Given the description of an element on the screen output the (x, y) to click on. 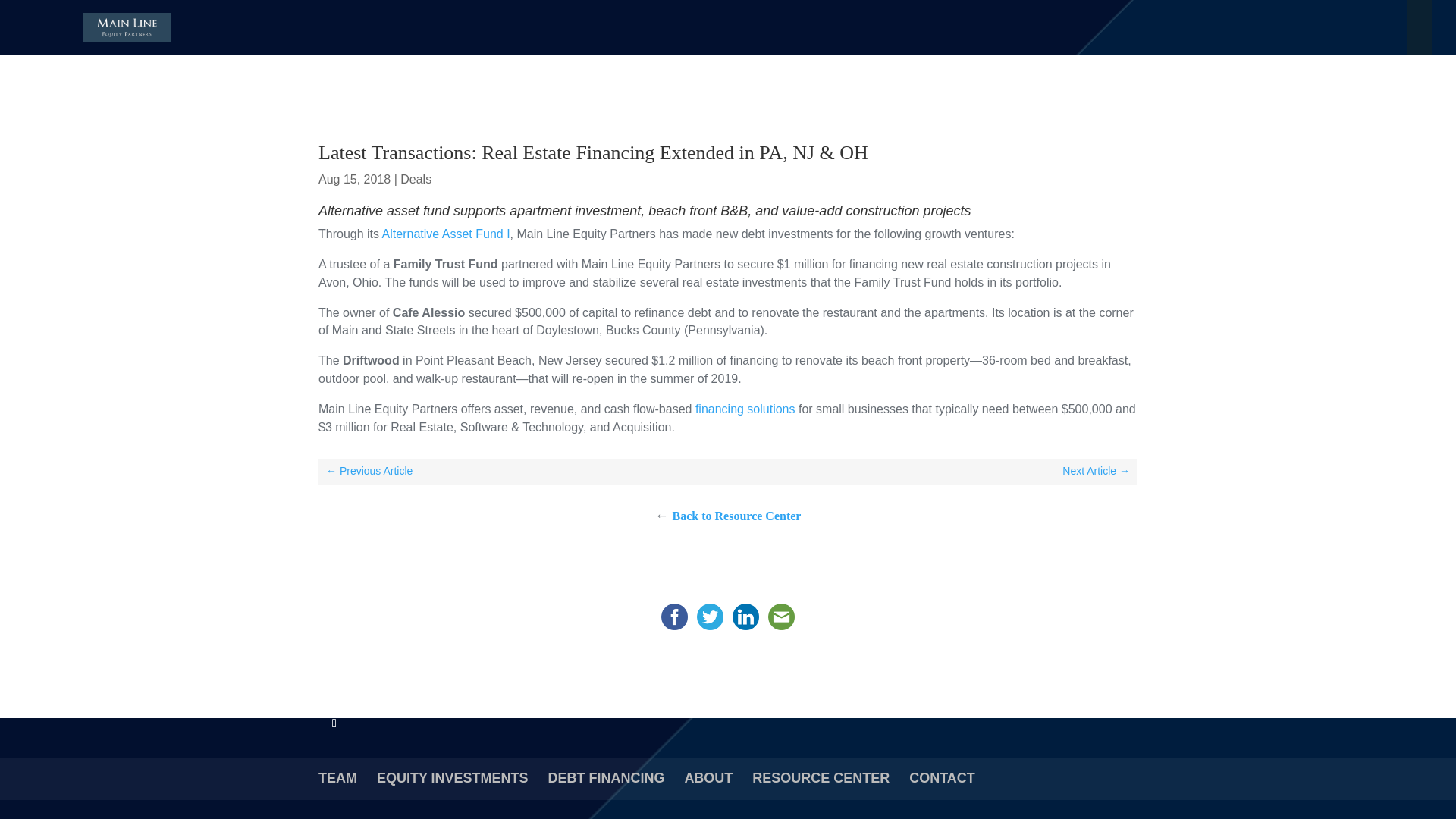
Deals (415, 178)
twitter (710, 616)
linkedin (745, 616)
Privacy Statement (555, 678)
Alternative Asset Fund I (446, 233)
facebook (674, 616)
INVESTOR LOGIN (1372, 27)
email (780, 616)
Back to Resource Center (737, 515)
financing solutions (744, 408)
